Given the description of an element on the screen output the (x, y) to click on. 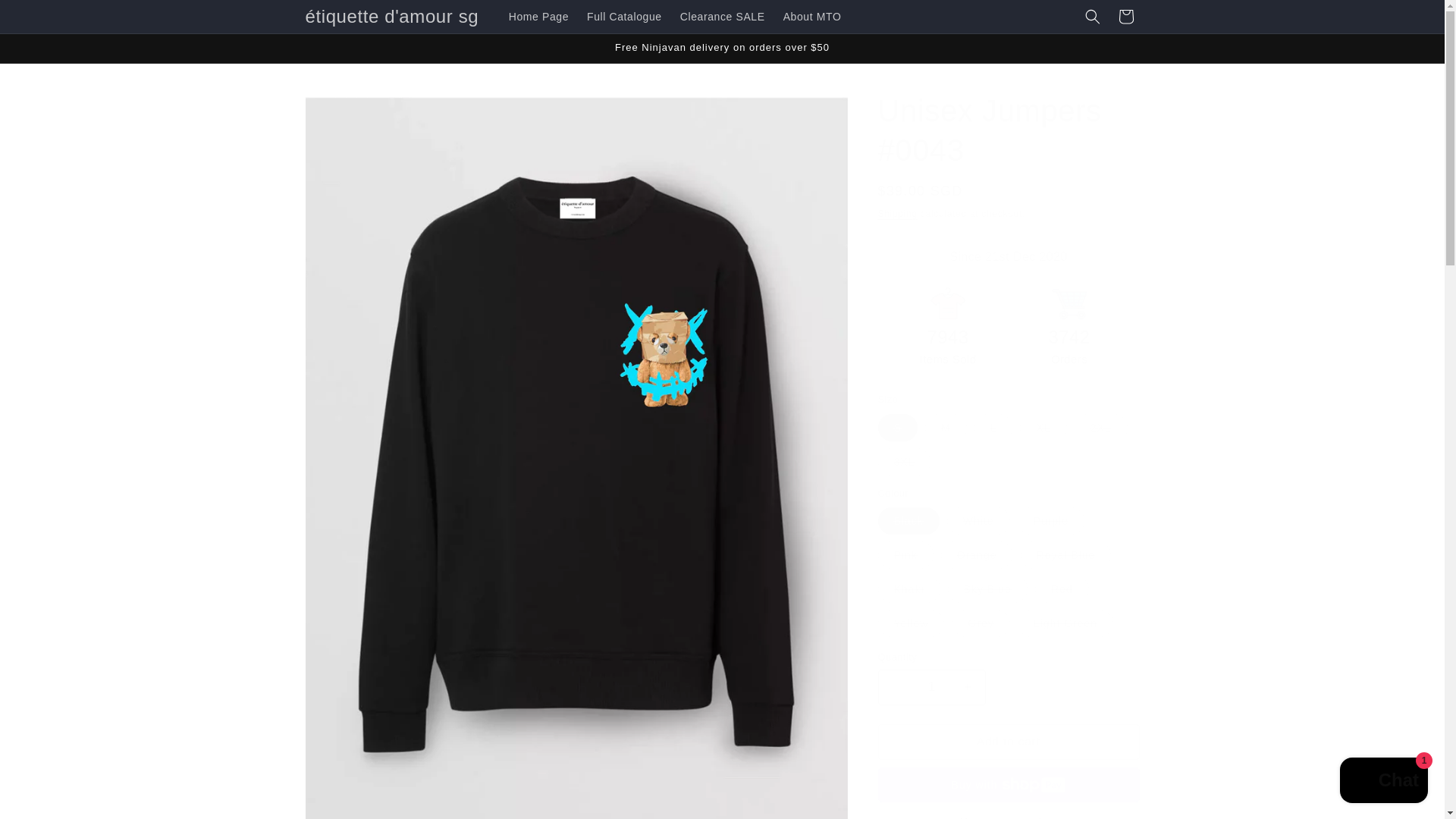
Cart (1124, 16)
Shopify online store chat (1383, 781)
Shipping (897, 213)
More payment options (1008, 816)
Home Page (538, 16)
